Given the description of an element on the screen output the (x, y) to click on. 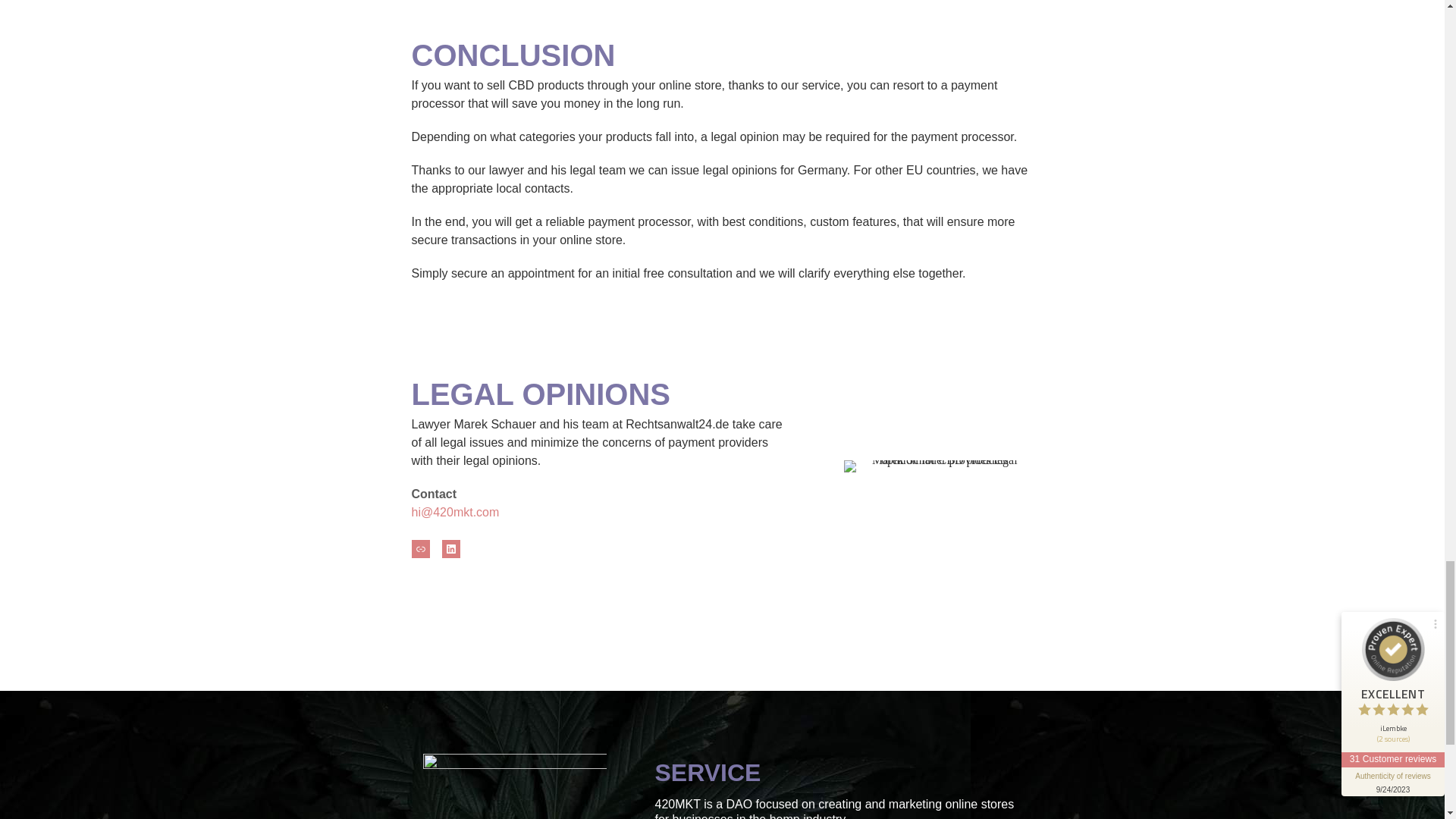
Link (419, 548)
LinkedIn (450, 548)
